Given the description of an element on the screen output the (x, y) to click on. 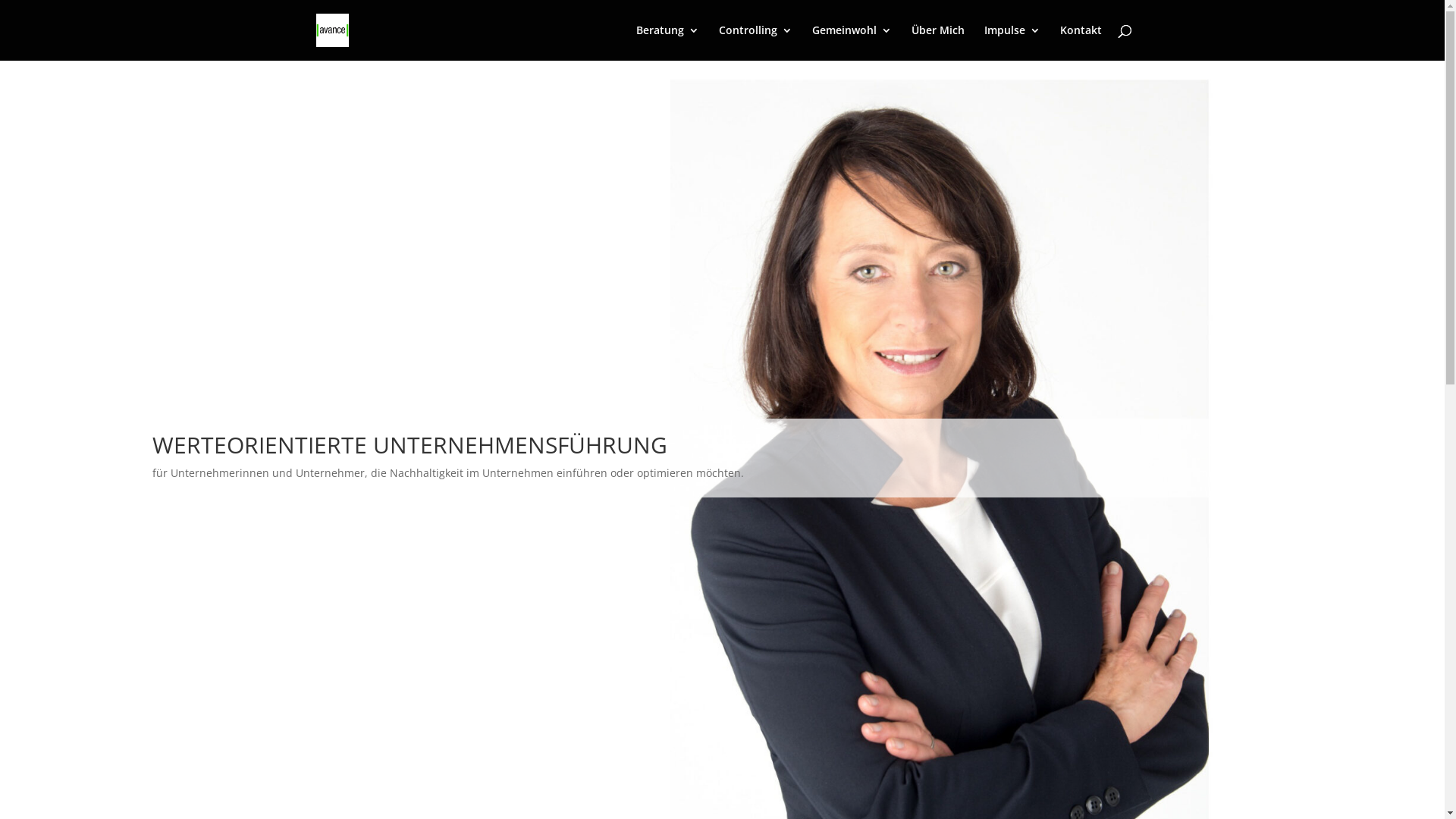
Gemeinwohl Element type: text (851, 42)
Impulse Element type: text (1012, 42)
Kontakt Element type: text (1080, 42)
Controlling Element type: text (755, 42)
Beratung Element type: text (666, 42)
